Given the description of an element on the screen output the (x, y) to click on. 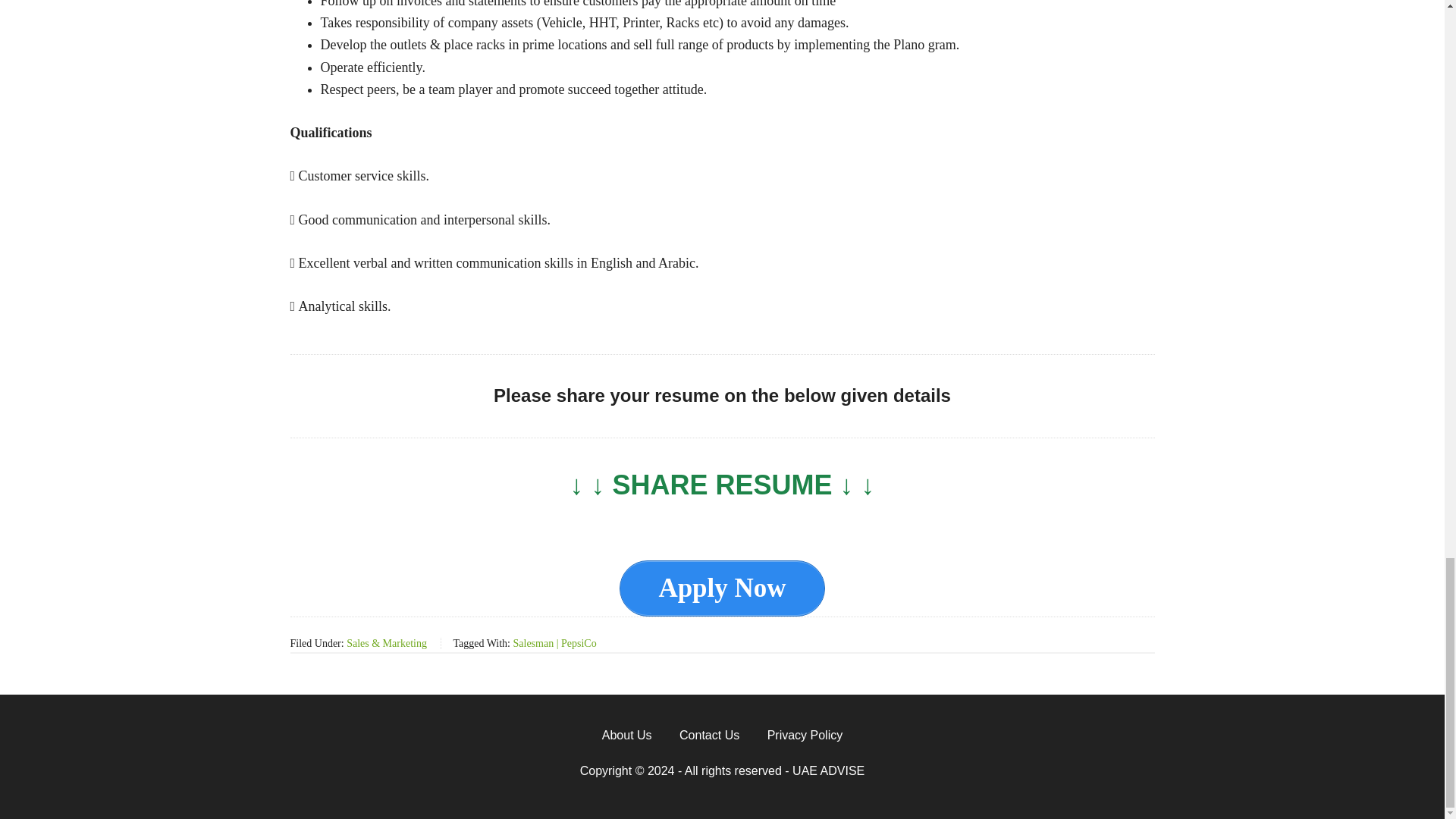
Privacy Policy (805, 735)
Apply Now (722, 588)
UAE ADVISE (828, 770)
About Us (626, 735)
Contact Us (708, 735)
